Given the description of an element on the screen output the (x, y) to click on. 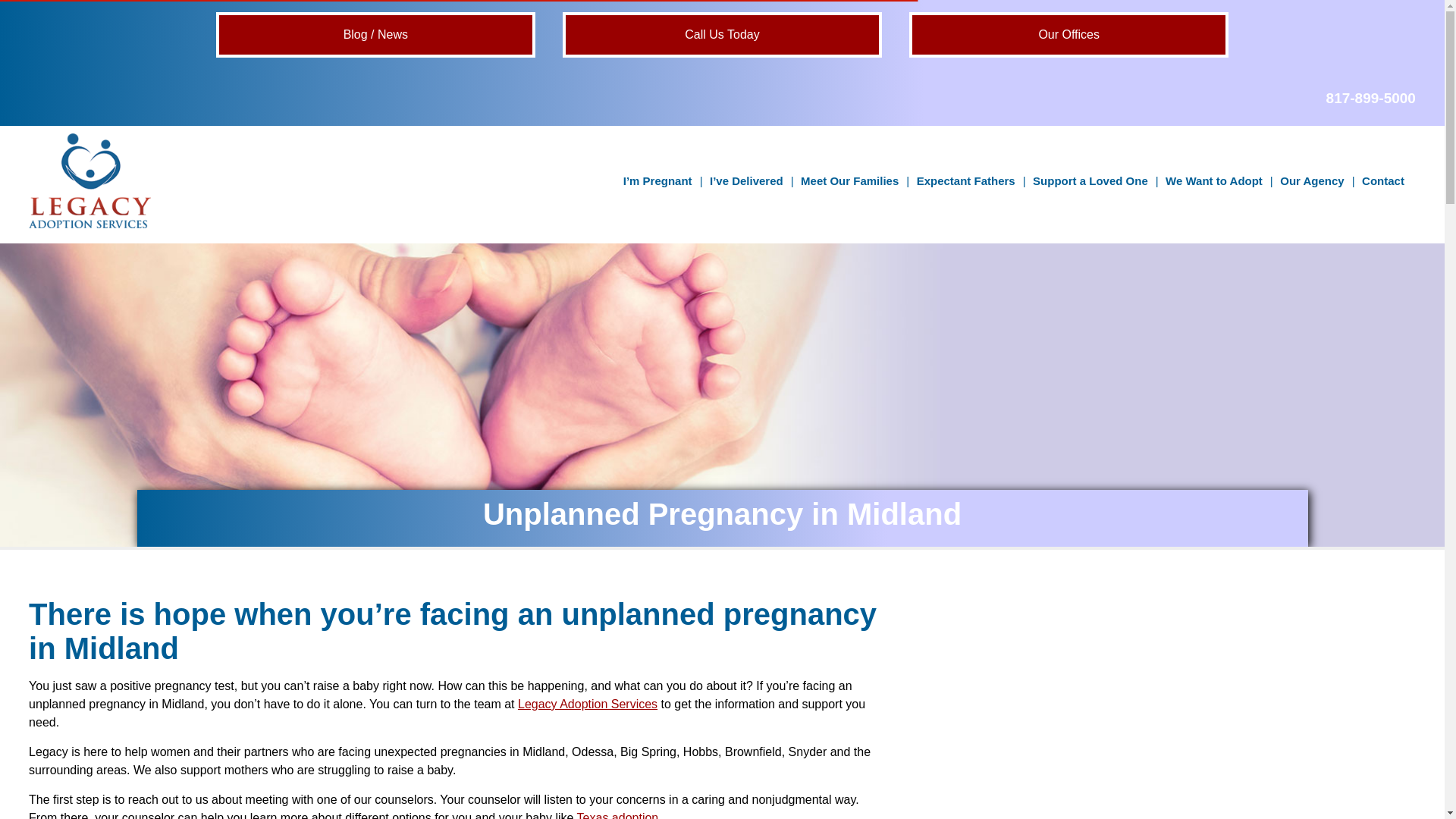
Meet Our Families (849, 180)
Expectant Fathers (965, 180)
Our Offices (1068, 34)
817-899-5000 (1370, 98)
Legacy Adoption Services (90, 223)
Call Us Today (722, 34)
